Given the description of an element on the screen output the (x, y) to click on. 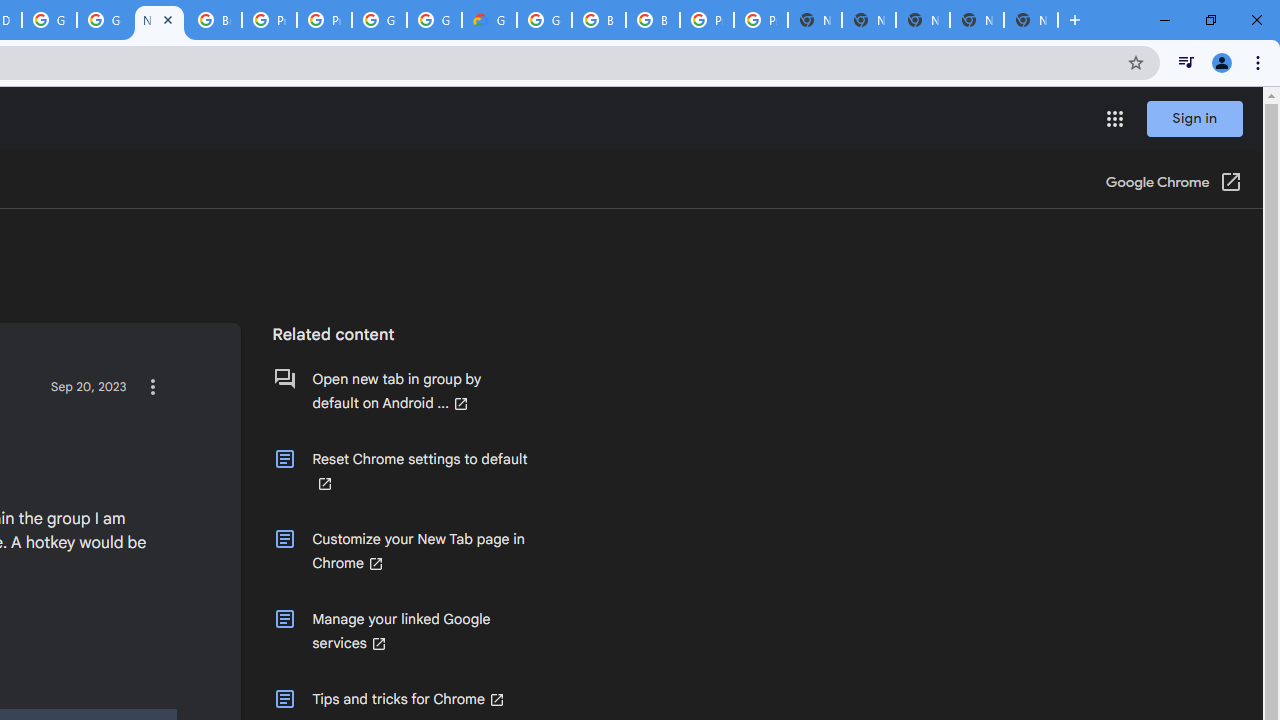
Action items for the question (152, 386)
Google Cloud Platform (434, 20)
New Tab within Group - Google Chrome Community (158, 20)
Action items for the question (152, 386)
Google Cloud Platform (544, 20)
Google Cloud Estimate Summary (489, 20)
Google Chrome (Open in a new window) (1173, 183)
